Given the description of an element on the screen output the (x, y) to click on. 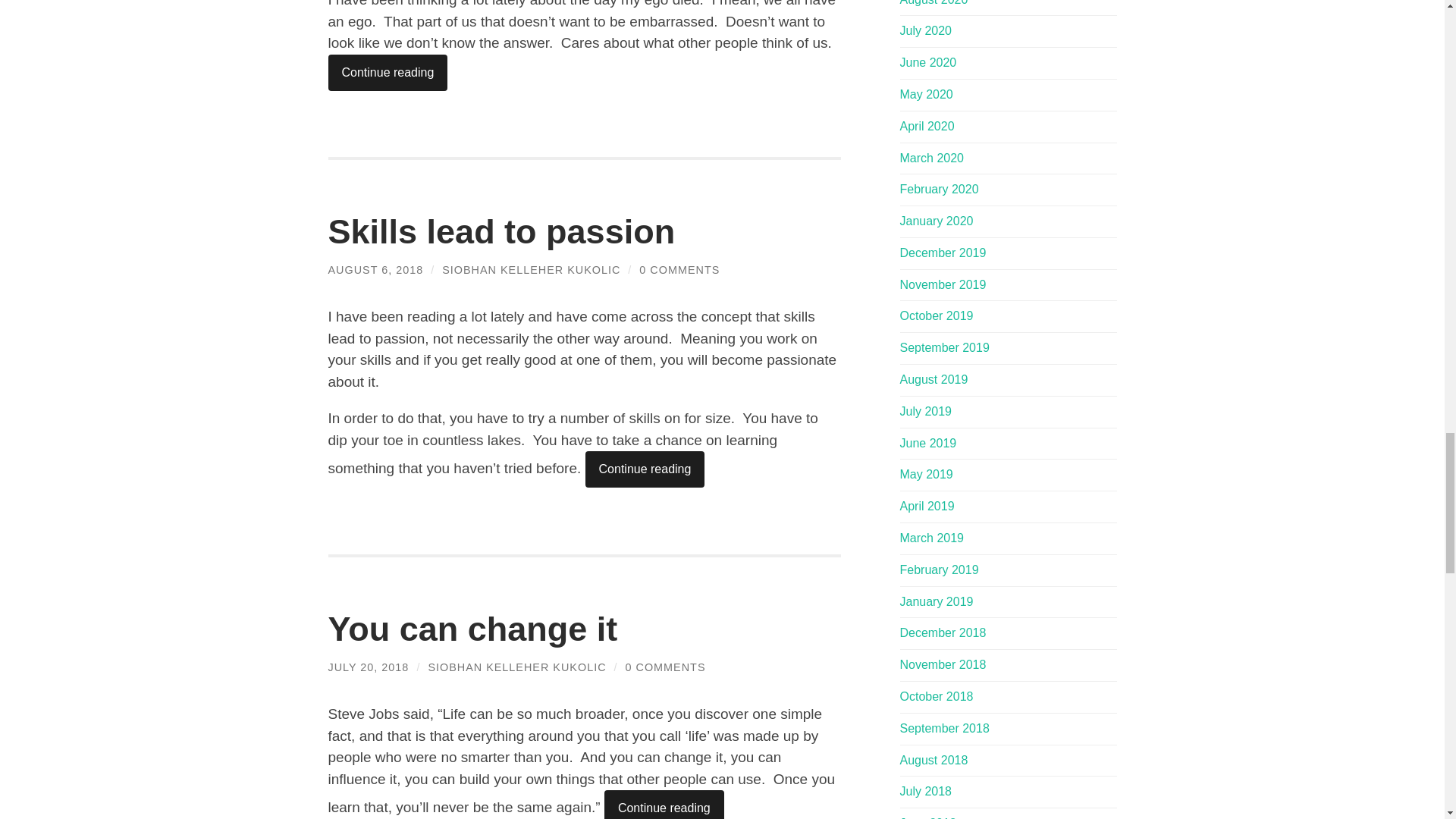
Continue reading (386, 72)
0 COMMENTS (679, 269)
Posts by Siobhan Kelleher Kukolic (516, 666)
Posts by Siobhan Kelleher Kukolic (531, 269)
SIOBHAN KELLEHER KUKOLIC (531, 269)
AUGUST 6, 2018 (375, 269)
Skills lead to passion (501, 231)
